Given the description of an element on the screen output the (x, y) to click on. 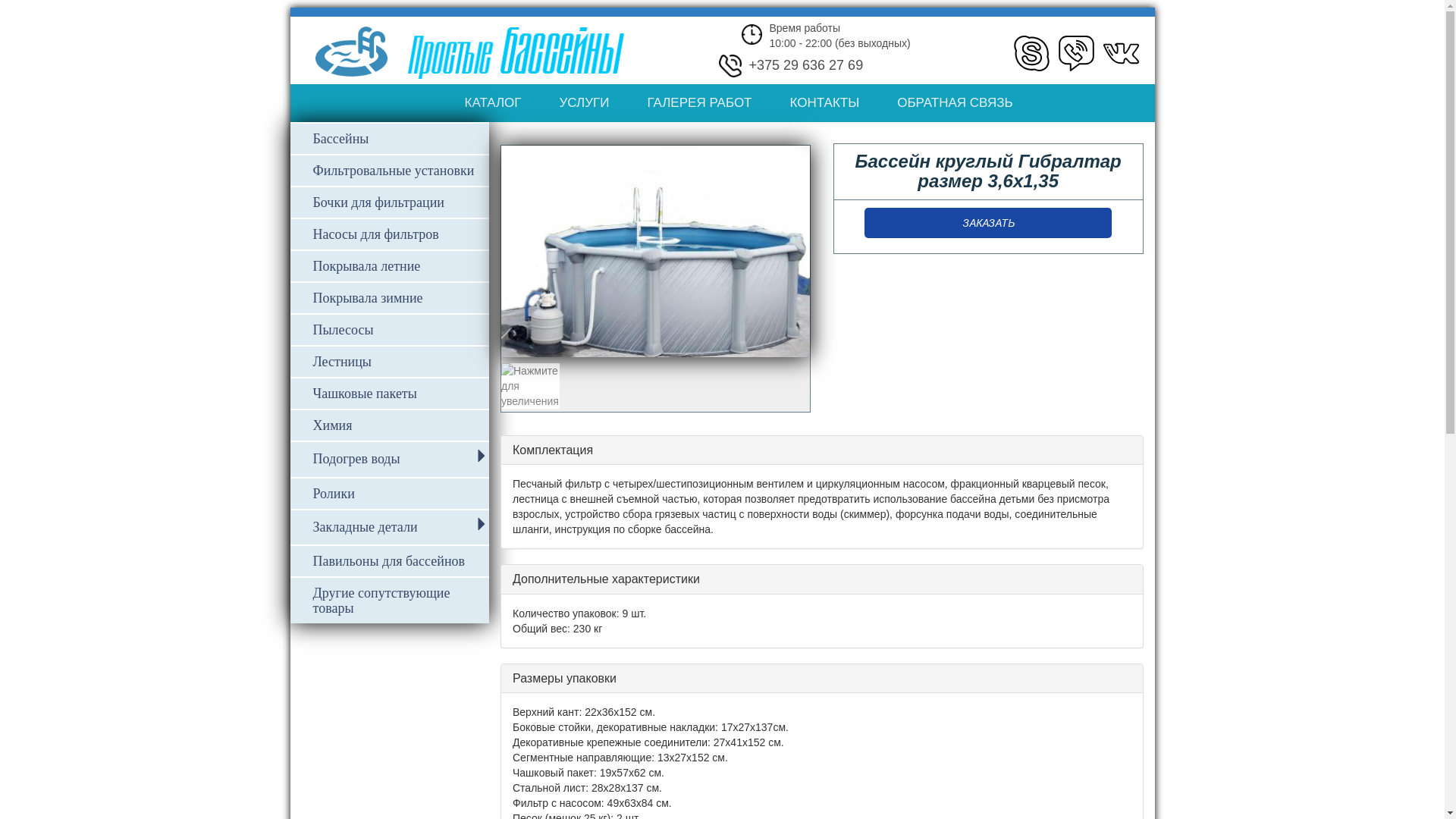
+375 29 636 27 69 Element type: text (806, 65)
